Given the description of an element on the screen output the (x, y) to click on. 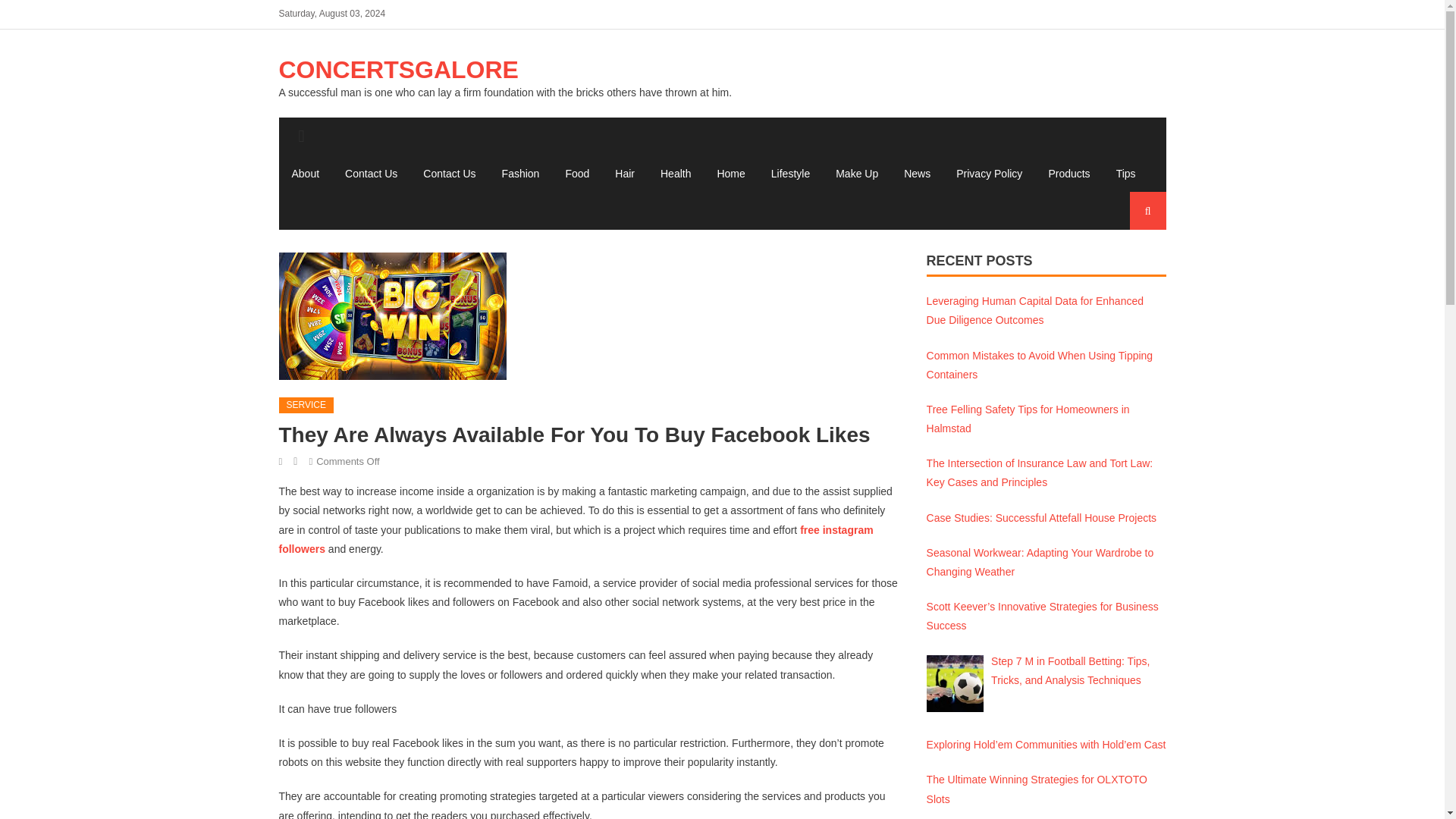
Fashion (520, 173)
Privacy Policy (988, 173)
Health (675, 173)
News (917, 173)
CONCERTSGALORE (398, 69)
Products (1068, 173)
Home (729, 173)
Contact Us (449, 173)
About (306, 173)
Lifestyle (790, 173)
Contact Us (371, 173)
Food (576, 173)
free instagram followers (576, 539)
SERVICE (306, 405)
Tips (1126, 173)
